Given the description of an element on the screen output the (x, y) to click on. 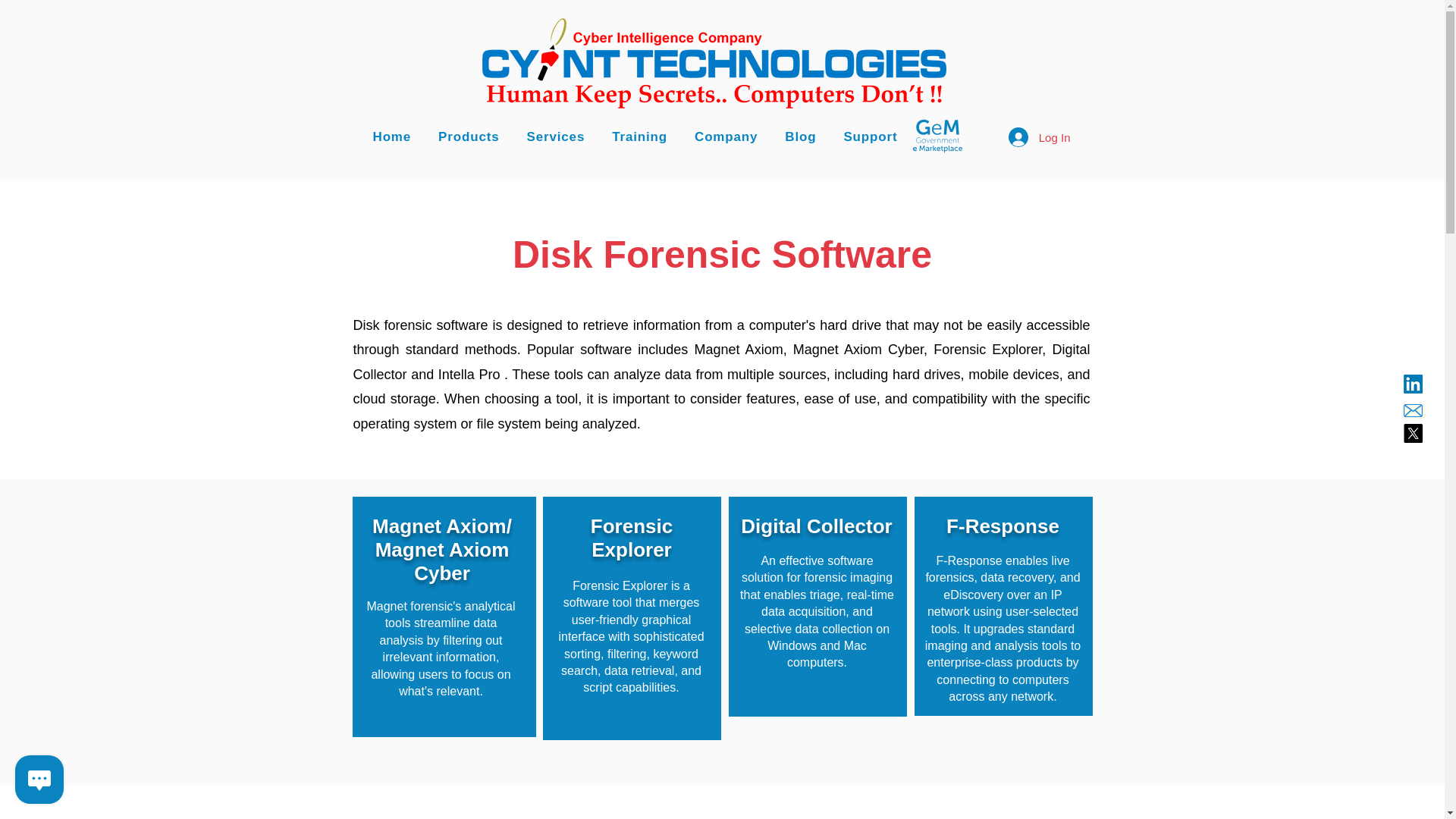
Wix Chat (35, 783)
Home (395, 137)
Blog (803, 137)
Log In (1039, 136)
